Given the description of an element on the screen output the (x, y) to click on. 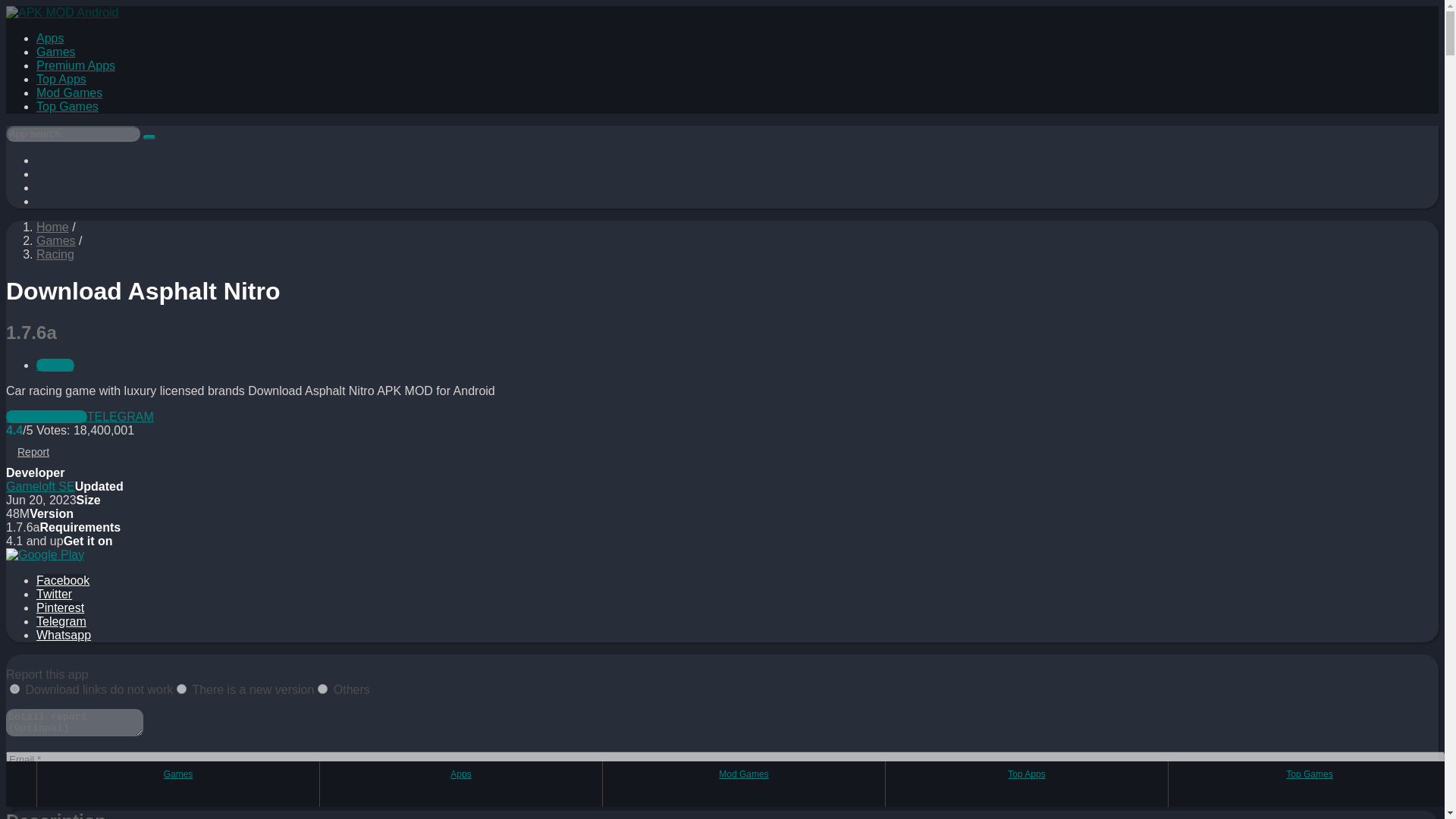
Telegram (120, 416)
Mod Games (68, 92)
Top Games (67, 106)
Report (33, 451)
2 (181, 688)
Facebook (62, 580)
TELEGRAM (120, 416)
Games (55, 51)
Racing (55, 254)
Download APK (46, 416)
Home (52, 226)
Pinterest (60, 607)
Report (26, 787)
APK MOD Android (52, 226)
Premium Apps (75, 65)
